Given the description of an element on the screen output the (x, y) to click on. 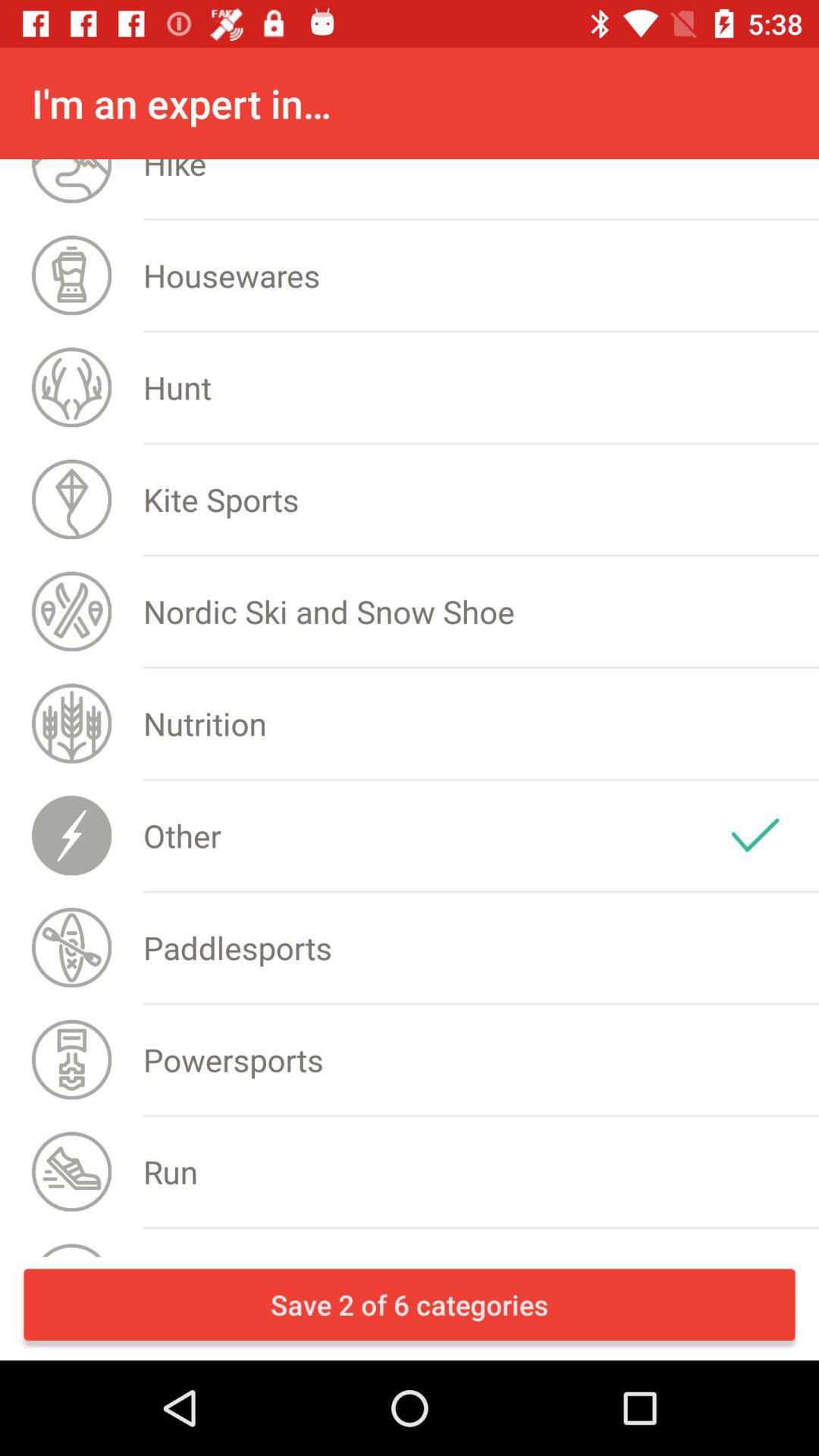
select the save 2 of item (409, 1304)
